Given the description of an element on the screen output the (x, y) to click on. 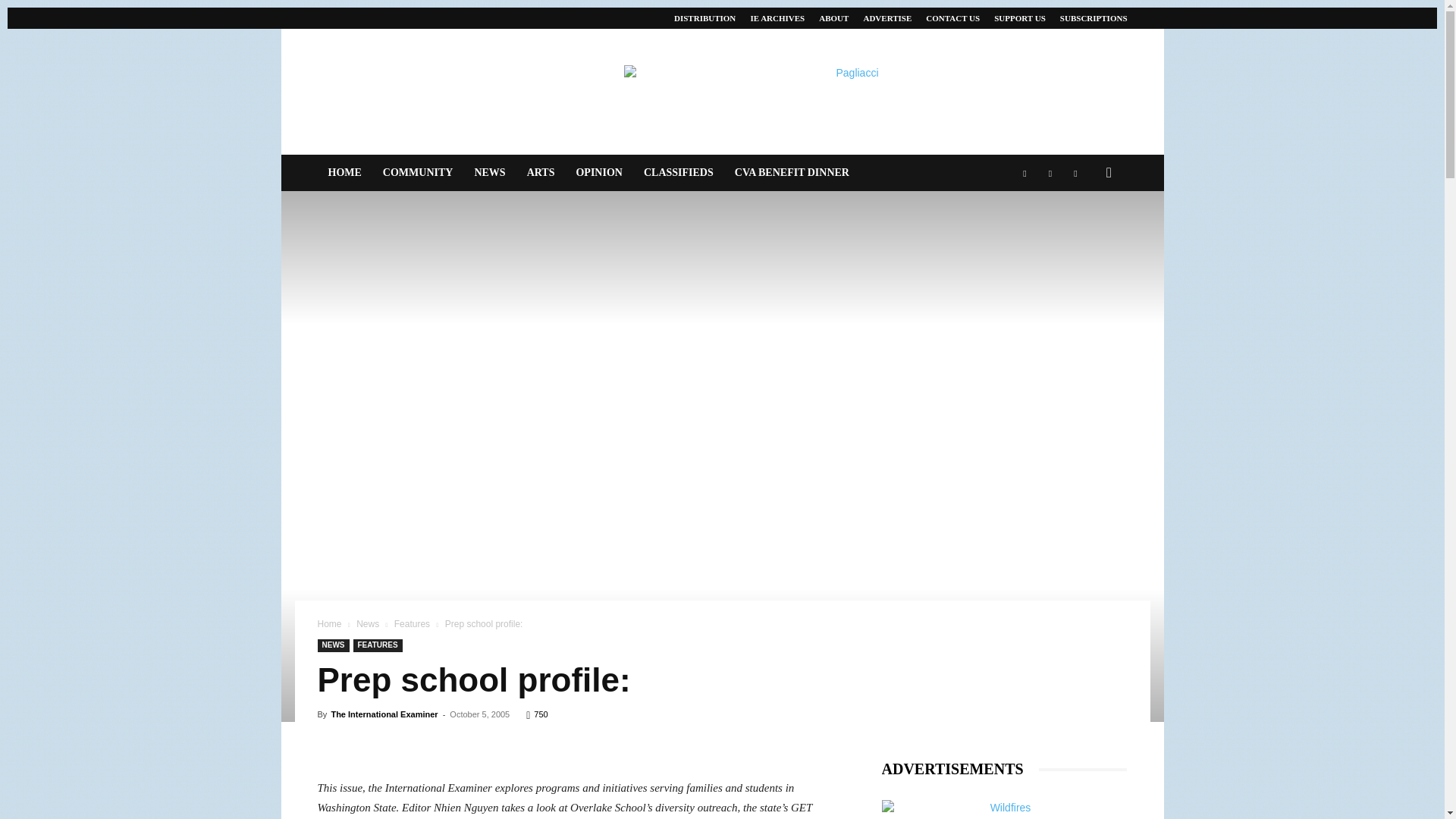
SUBSCRIPTIONS (1092, 17)
ABOUT (833, 17)
News (367, 624)
Home (328, 624)
Search (1085, 233)
ADVERTISE (887, 17)
View all posts in Features (411, 624)
SUPPORT US (1019, 17)
OPINION (597, 172)
IE ARCHIVES (777, 17)
View all posts in News (367, 624)
Pagliacci (850, 99)
Features (411, 624)
DISTRIBUTION (704, 17)
COMMUNITY (418, 172)
